Given the description of an element on the screen output the (x, y) to click on. 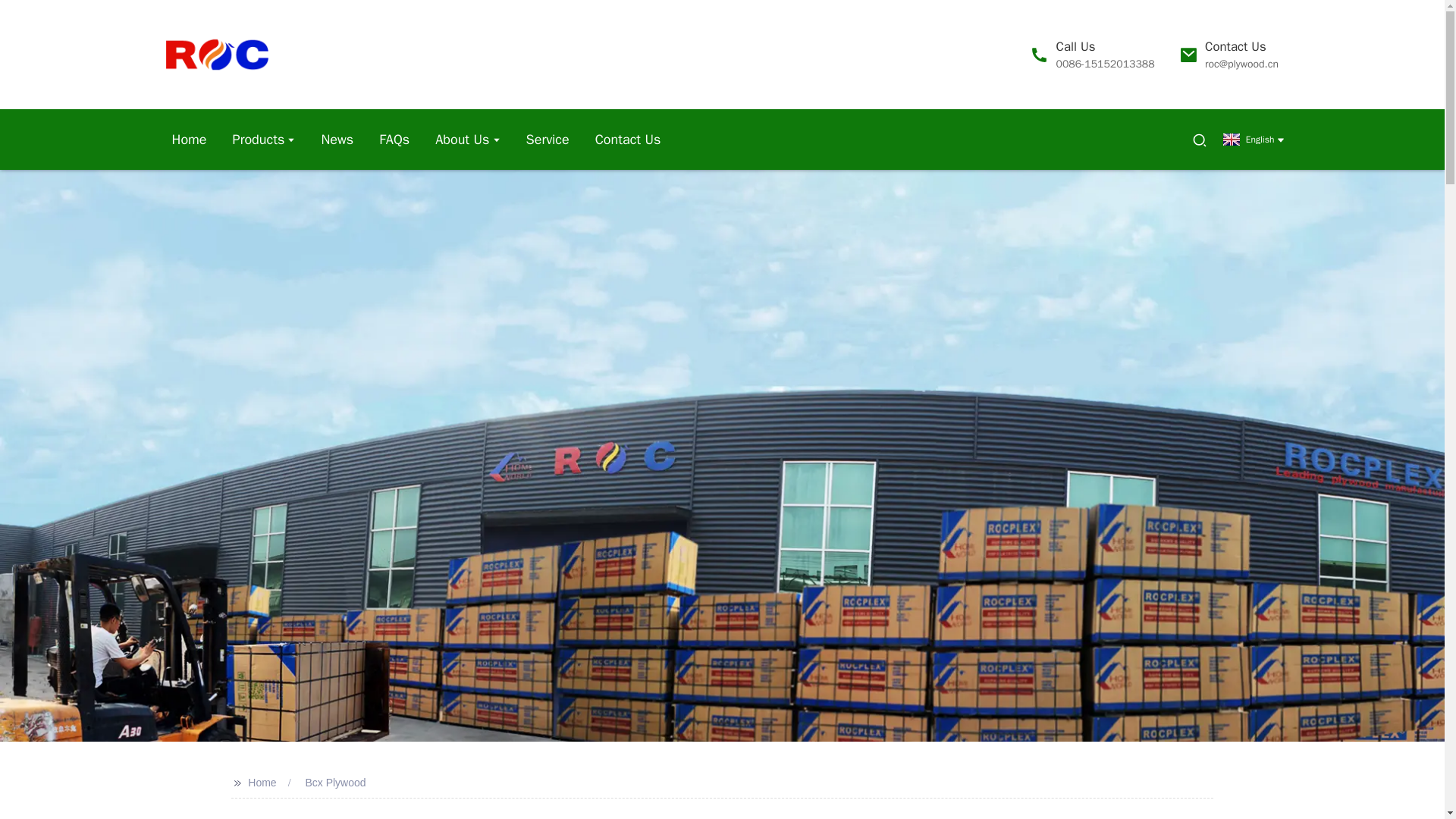
products (264, 138)
Products (1091, 53)
